Given the description of an element on the screen output the (x, y) to click on. 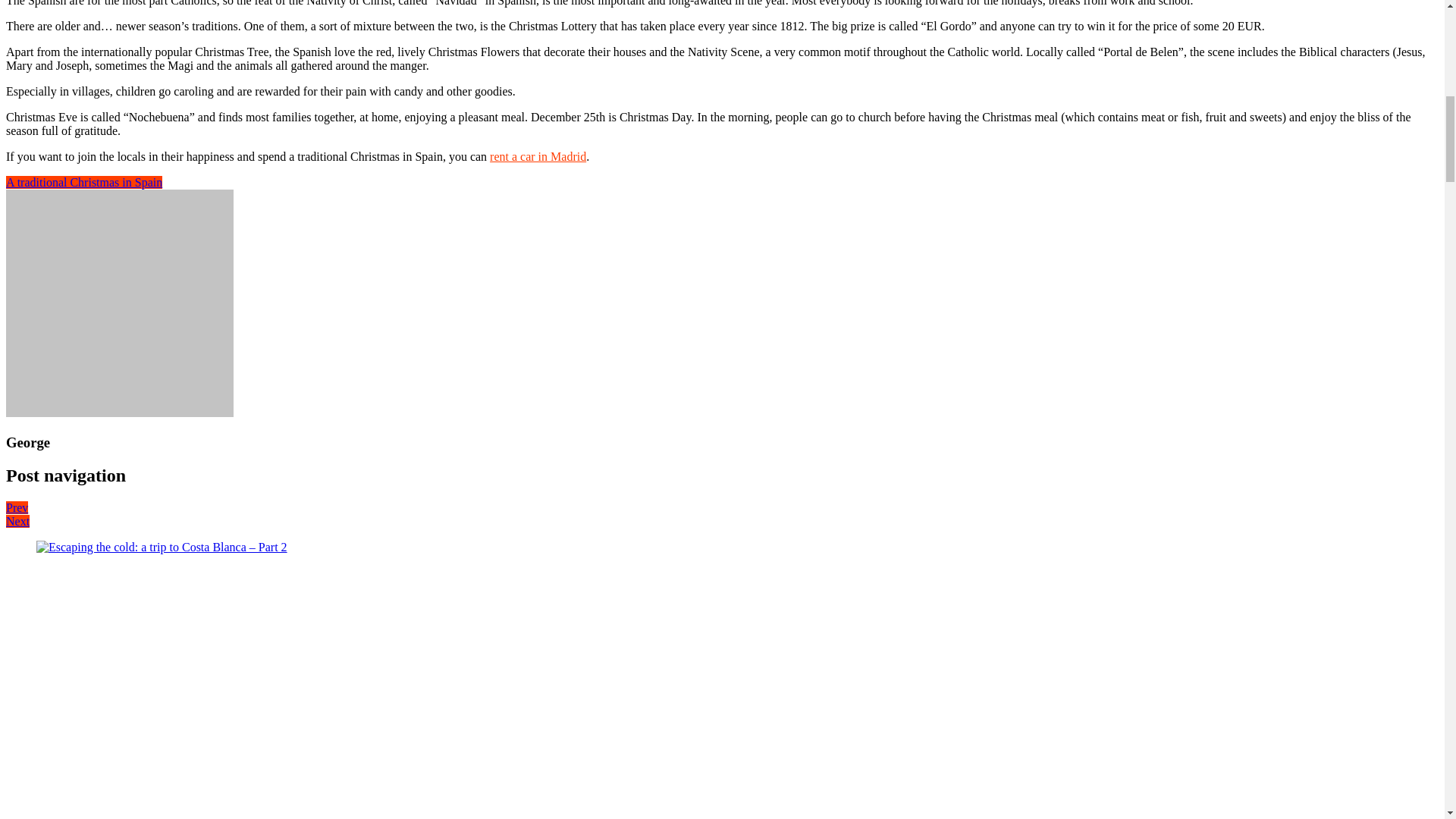
Prev (16, 507)
rent a car in Madrid (537, 155)
Next (17, 521)
A traditional Christmas in Spain (83, 182)
